Given the description of an element on the screen output the (x, y) to click on. 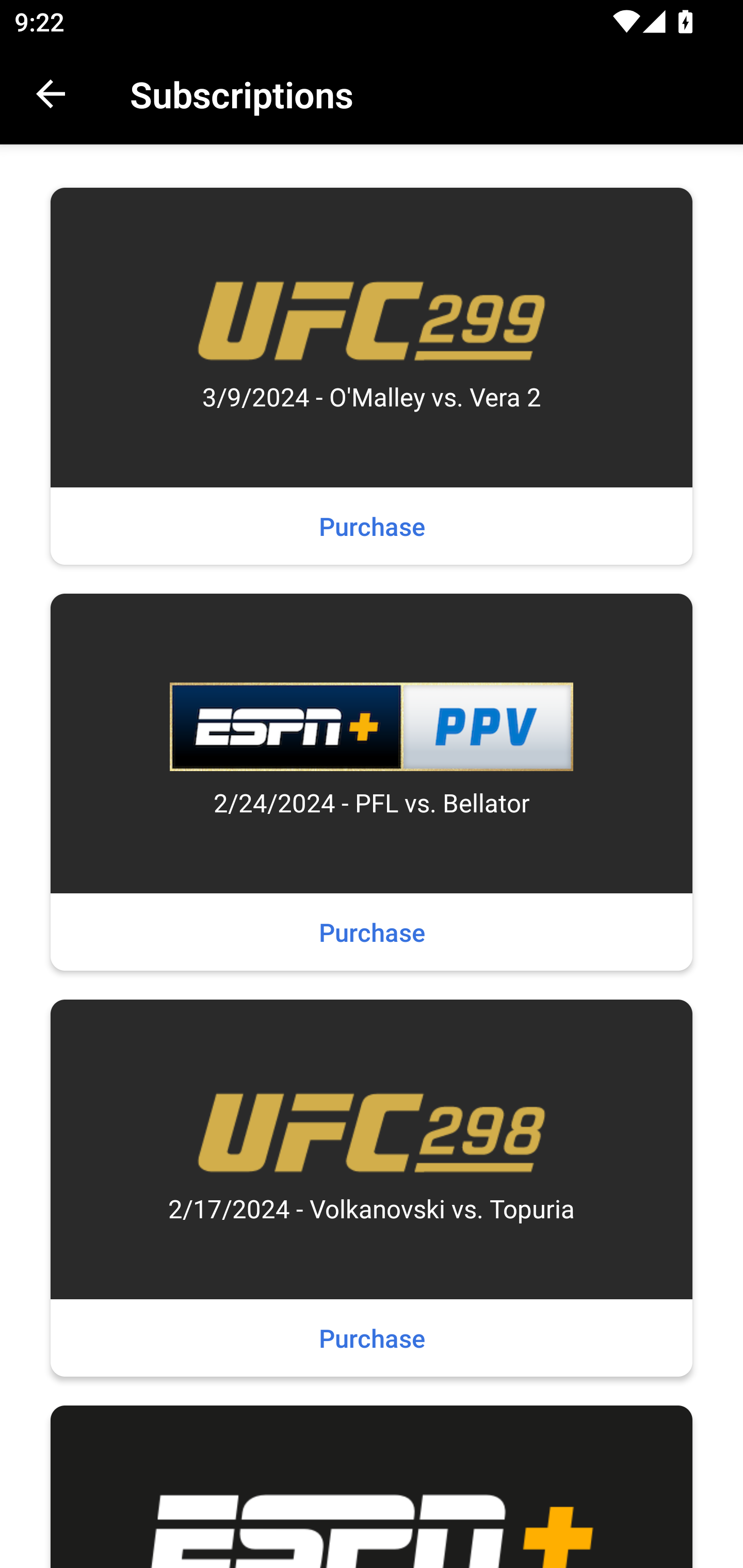
back.button (50, 93)
Purchase (371, 525)
Purchase (371, 932)
Purchase (371, 1338)
